Given the description of an element on the screen output the (x, y) to click on. 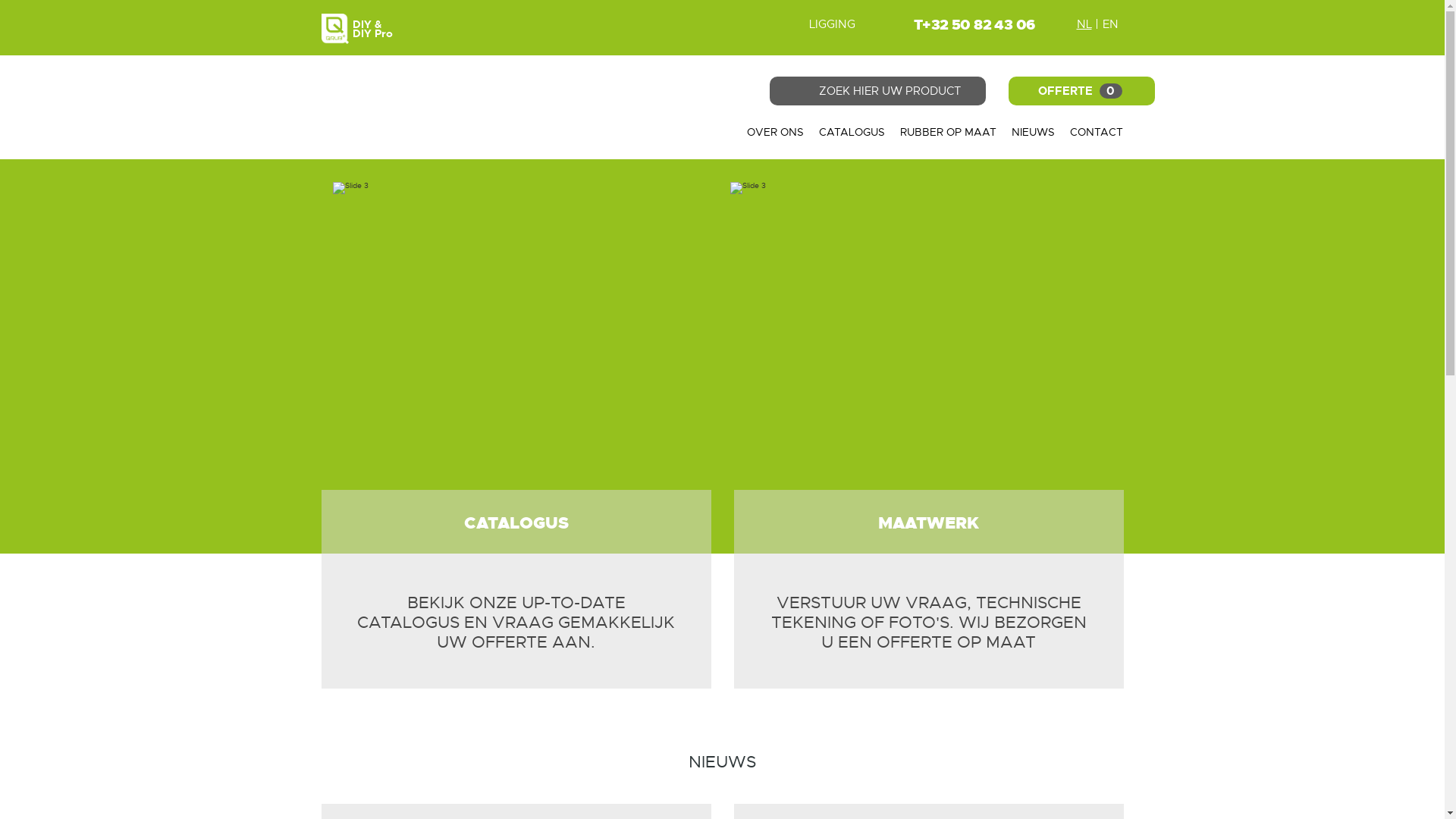
NIEUWS Element type: text (1032, 131)
Next Element type: text (1335, 356)
CONTACT Element type: text (1096, 131)
CATALOGUS Element type: text (851, 131)
T+32 50 82 43 06 Element type: text (973, 24)
EN Element type: text (1110, 24)
LIGGING Element type: text (818, 24)
Previous Element type: text (108, 356)
OFFERTE 0 Element type: text (1081, 90)
NL Element type: text (1084, 24)
DIY &
DIY Pro Element type: text (516, 28)
RUBBER OP MAAT Element type: text (948, 131)
OVER ONS Element type: text (774, 131)
